Given the description of an element on the screen output the (x, y) to click on. 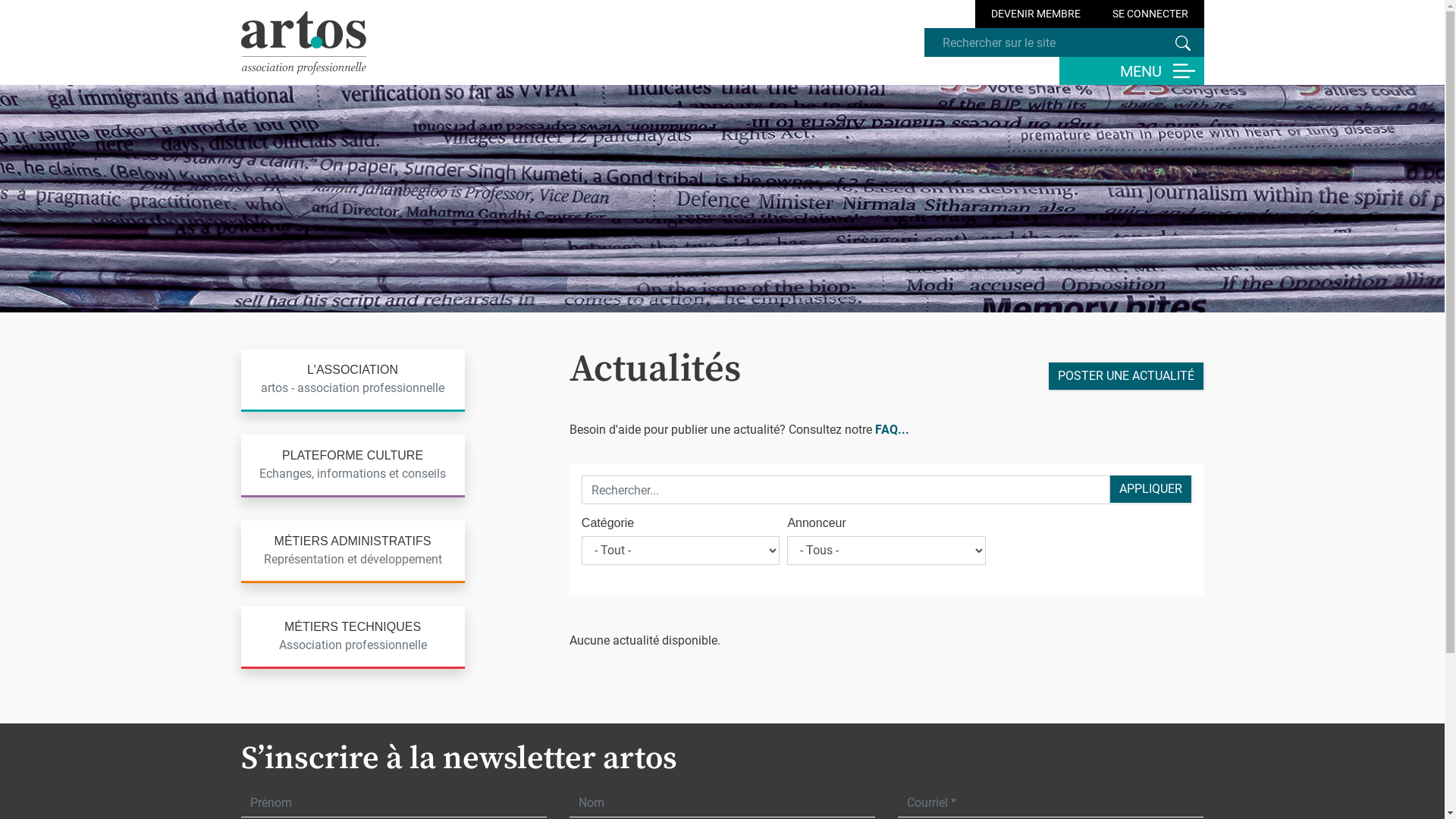
FAQ... Element type: text (892, 429)
SE CONNECTER Element type: text (1150, 14)
MENU Element type: text (1130, 70)
Appliquer Element type: text (1150, 488)
Aller au contenu principal Element type: text (0, 0)
Rechercher Element type: text (1182, 42)
PLATEFORME CULTURE
Echanges, informations et conseils Element type: text (352, 465)
L'ASSOCIATION
artos - association professionnelle Element type: text (352, 379)
DEVENIR MEMBRE Element type: text (1035, 14)
